Given the description of an element on the screen output the (x, y) to click on. 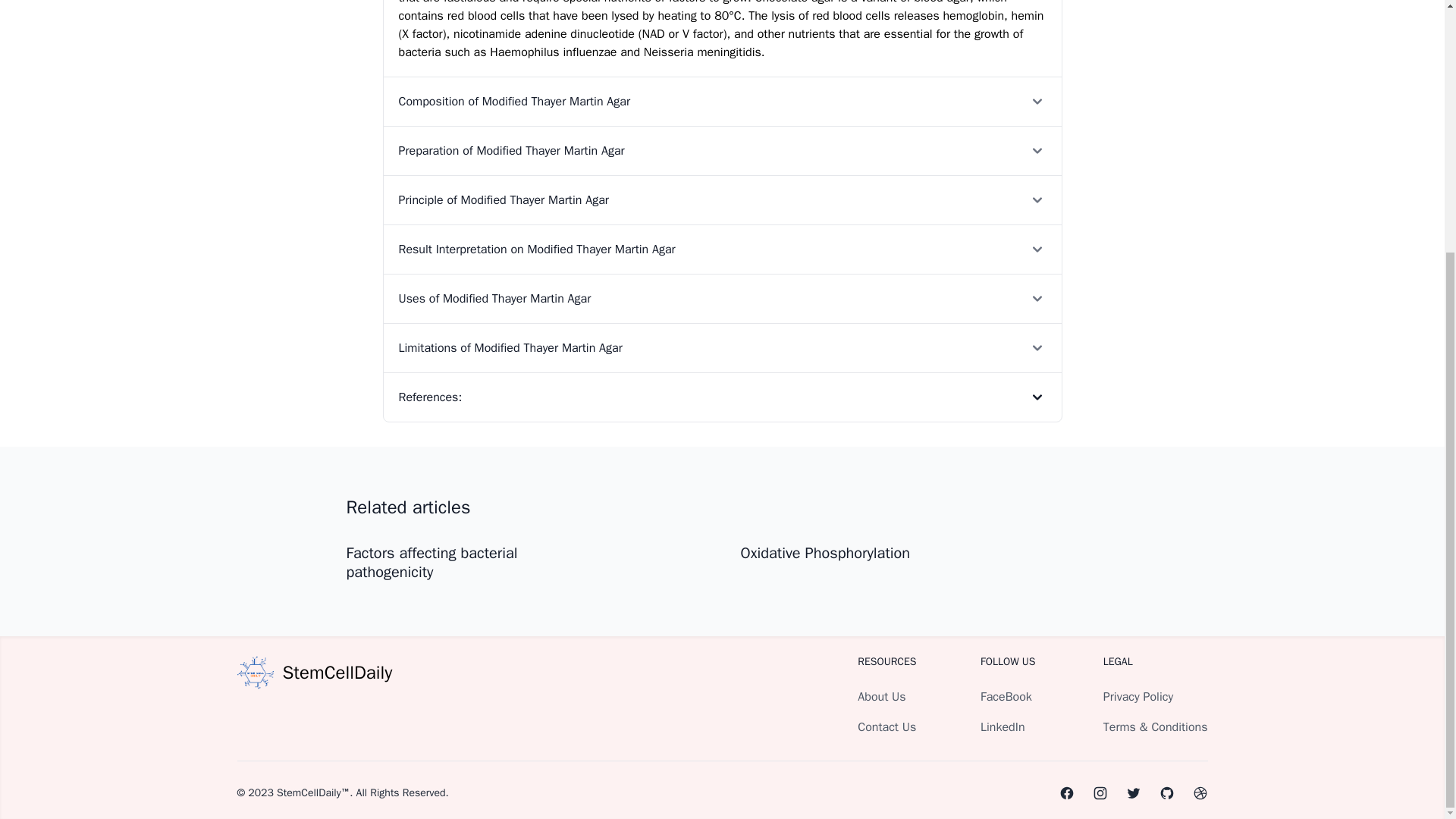
StemCellDaily (313, 672)
Composition of Modified Thayer Martin Agar (722, 101)
Result Interpretation on Modified Thayer Martin Agar (722, 248)
Principle of Modified Thayer Martin Agar (722, 199)
Preparation of Modified Thayer Martin Agar (722, 150)
Contact Us (886, 726)
Oxidative Phosphorylation (824, 552)
FaceBook (1005, 696)
Limitations of Modified Thayer Martin Agar (722, 347)
LinkedIn (1002, 726)
Privacy Policy (1138, 696)
Factors affecting bacterial pathogenicity (431, 562)
Uses of Modified Thayer Martin Agar (722, 297)
About Us (881, 696)
References: (722, 396)
